Given the description of an element on the screen output the (x, y) to click on. 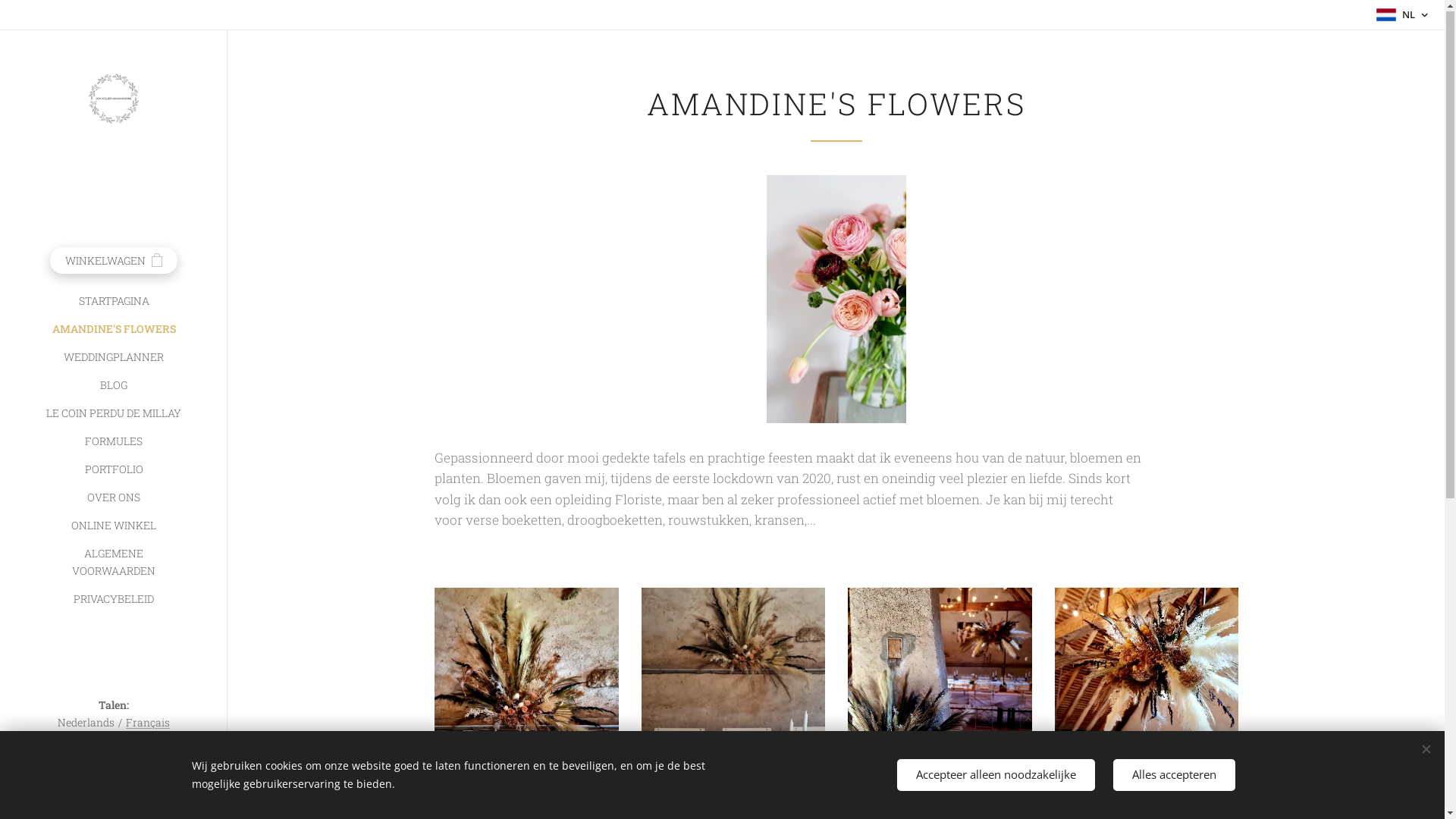
ONLINE WINKEL Element type: text (113, 525)
PRIVACYBELEID Element type: text (113, 599)
Alles accepteren Element type: text (1174, 774)
ALGEMENE VOORWAARDEN Element type: text (113, 562)
STARTPAGINA Element type: text (113, 301)
BLOG Element type: text (113, 385)
FORMULES Element type: text (113, 441)
Accepteer alleen noodzakelijke Element type: text (995, 774)
WINKELWAGEN Element type: text (113, 260)
WEDDINGPLANNER Element type: text (113, 357)
PORTFOLIO Element type: text (113, 469)
AMANDINE'S FLOWERS Element type: text (113, 329)
LE COIN PERDU DE MILLAY Element type: text (113, 413)
OVER ONS Element type: text (113, 497)
Cookies Element type: text (113, 799)
